Given the description of an element on the screen output the (x, y) to click on. 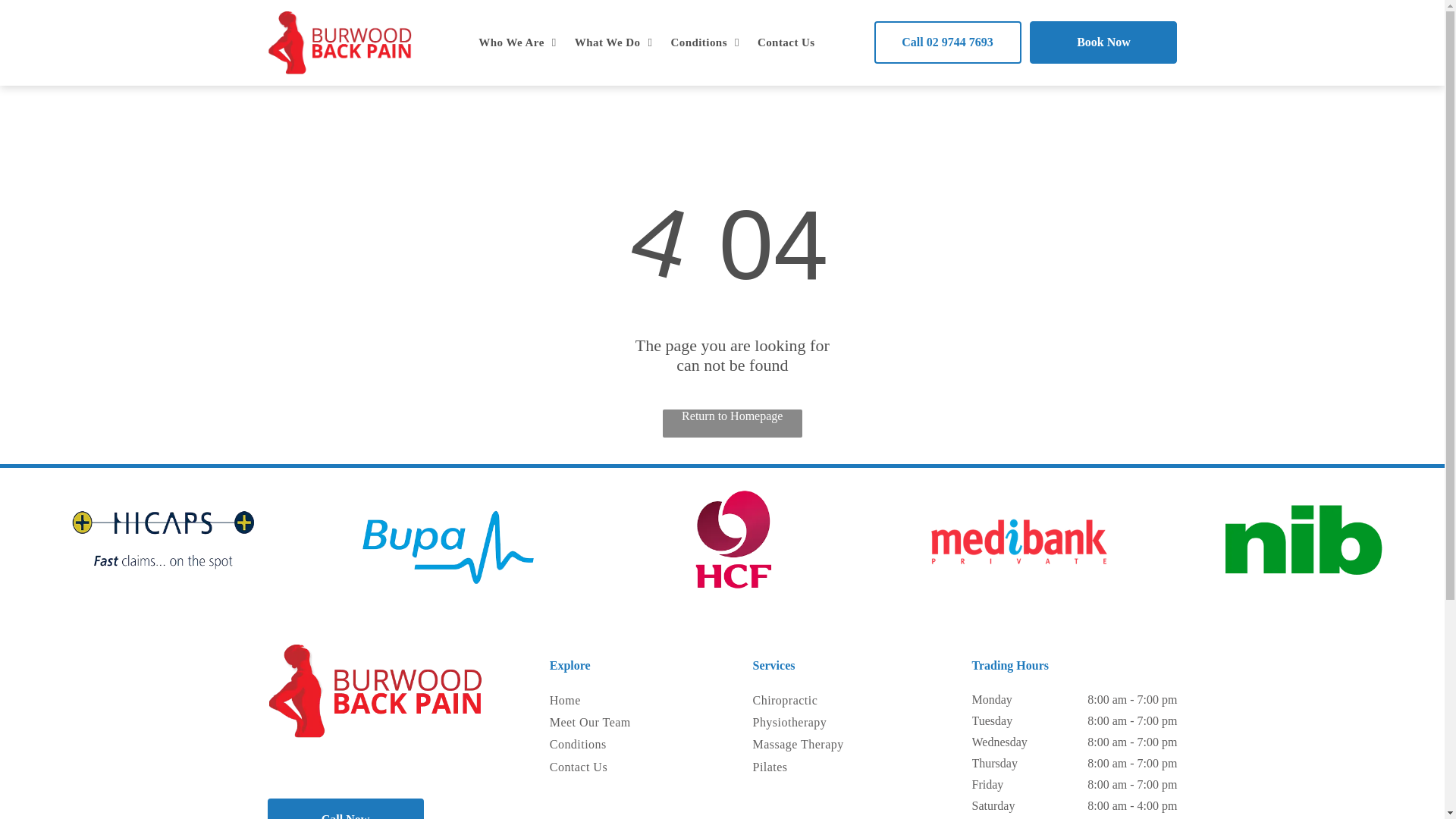
Meet Our Team (598, 722)
Massage Therapy (809, 744)
Call 02 9744 7693 (946, 42)
Pilates (809, 767)
Return to Homepage (732, 423)
What We Do (614, 42)
Physiotherapy (809, 722)
Book Now (1102, 42)
Conditions (704, 42)
Chiropractic (809, 700)
